Given the description of an element on the screen output the (x, y) to click on. 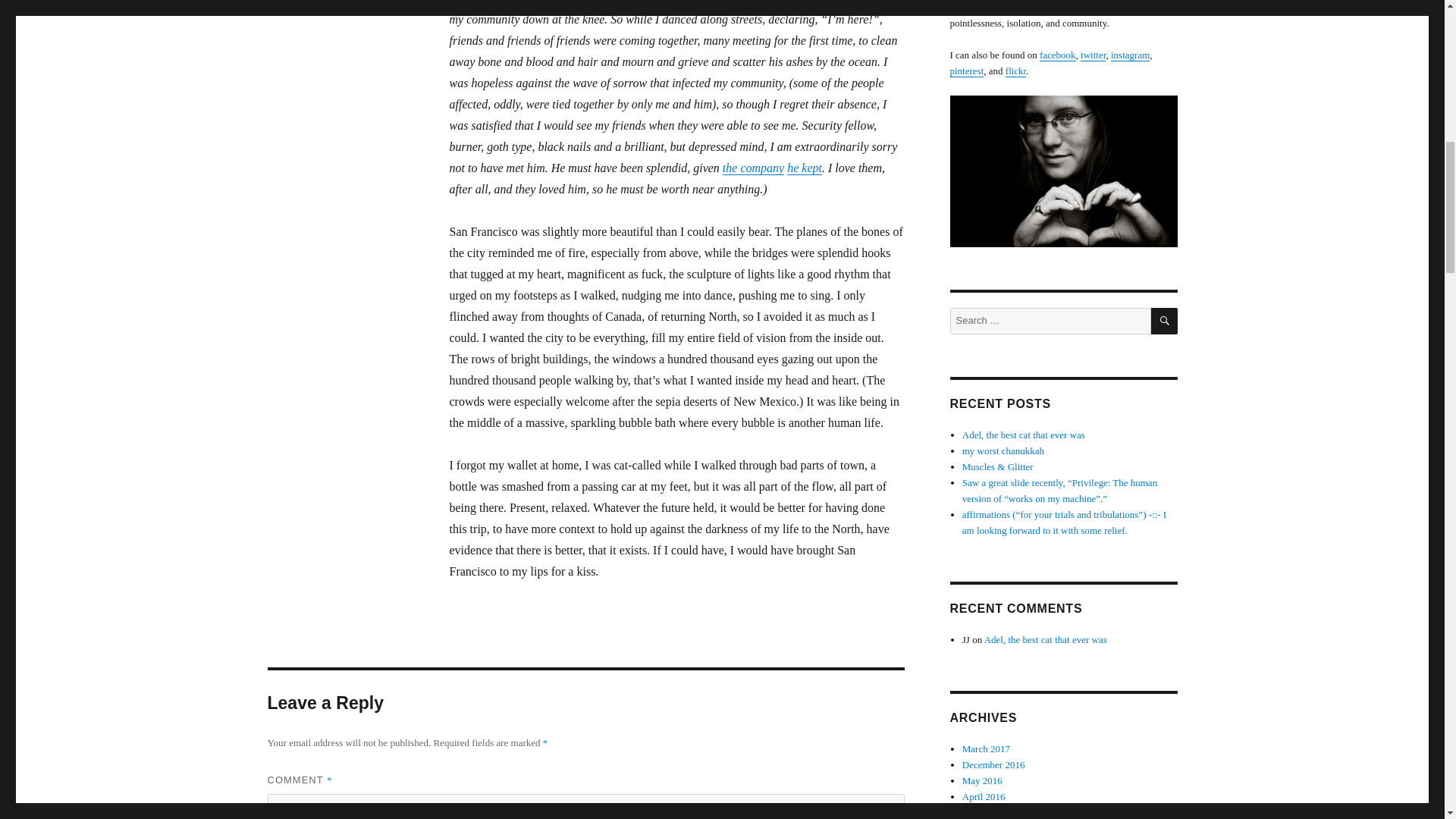
facebook (1057, 54)
the company (753, 167)
SEARCH (1164, 320)
instagram (1130, 54)
flickr (1016, 70)
Adel, the best cat that ever was (1023, 434)
my worst chanukkah (1002, 450)
pinterest (966, 70)
twitter (1092, 54)
he kept (804, 167)
